Given the description of an element on the screen output the (x, y) to click on. 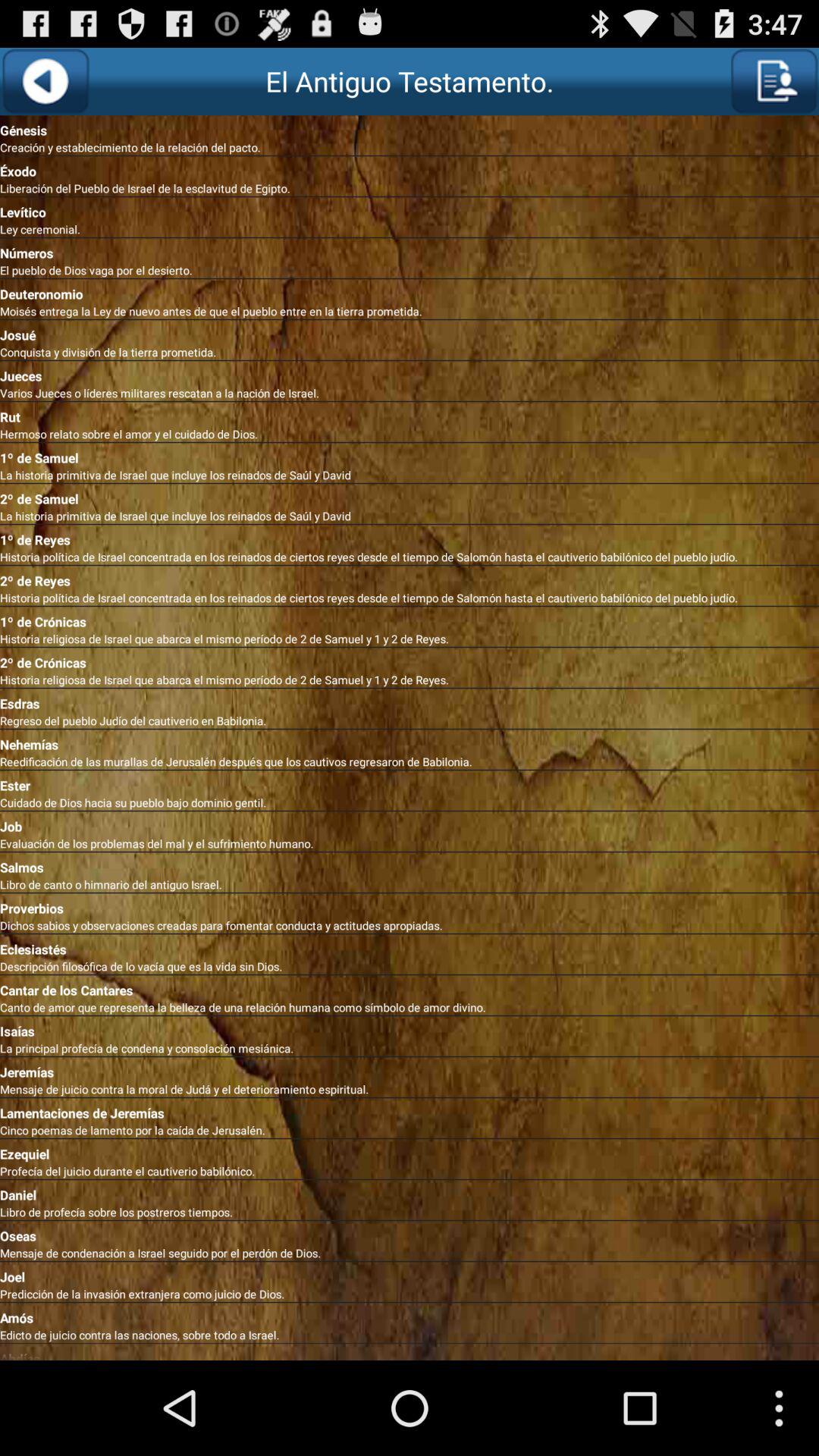
scroll to the ester item (409, 782)
